Given the description of an element on the screen output the (x, y) to click on. 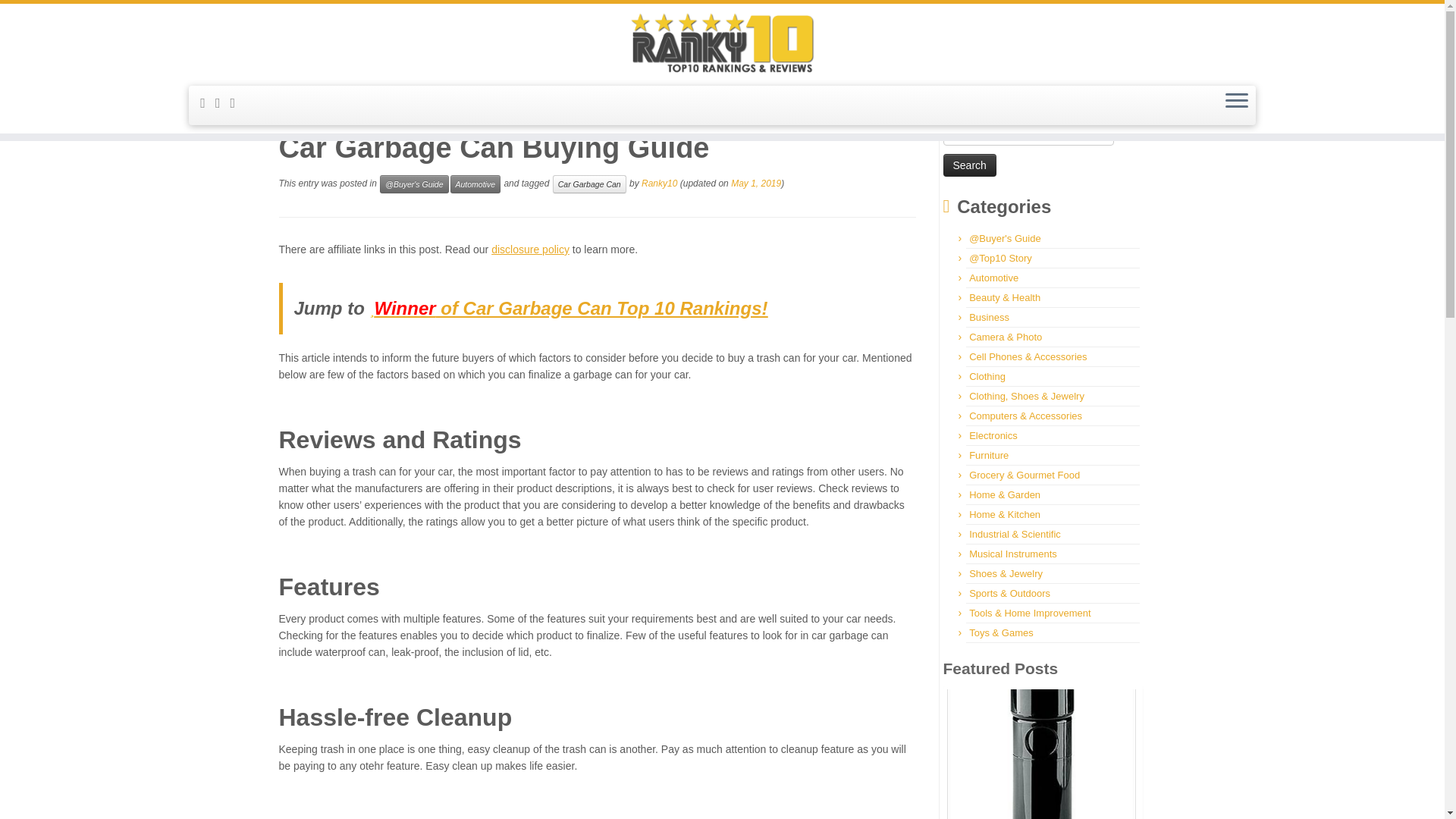
Follow us on Facebook (222, 102)
Car Garbage Can (589, 184)
Follow us on Twitter (238, 102)
Search (969, 164)
Business (989, 317)
View all posts in Automotive (474, 184)
Open the menu (1236, 101)
Automotive (474, 184)
Home (293, 105)
May 1, 2019 (755, 183)
